Given the description of an element on the screen output the (x, y) to click on. 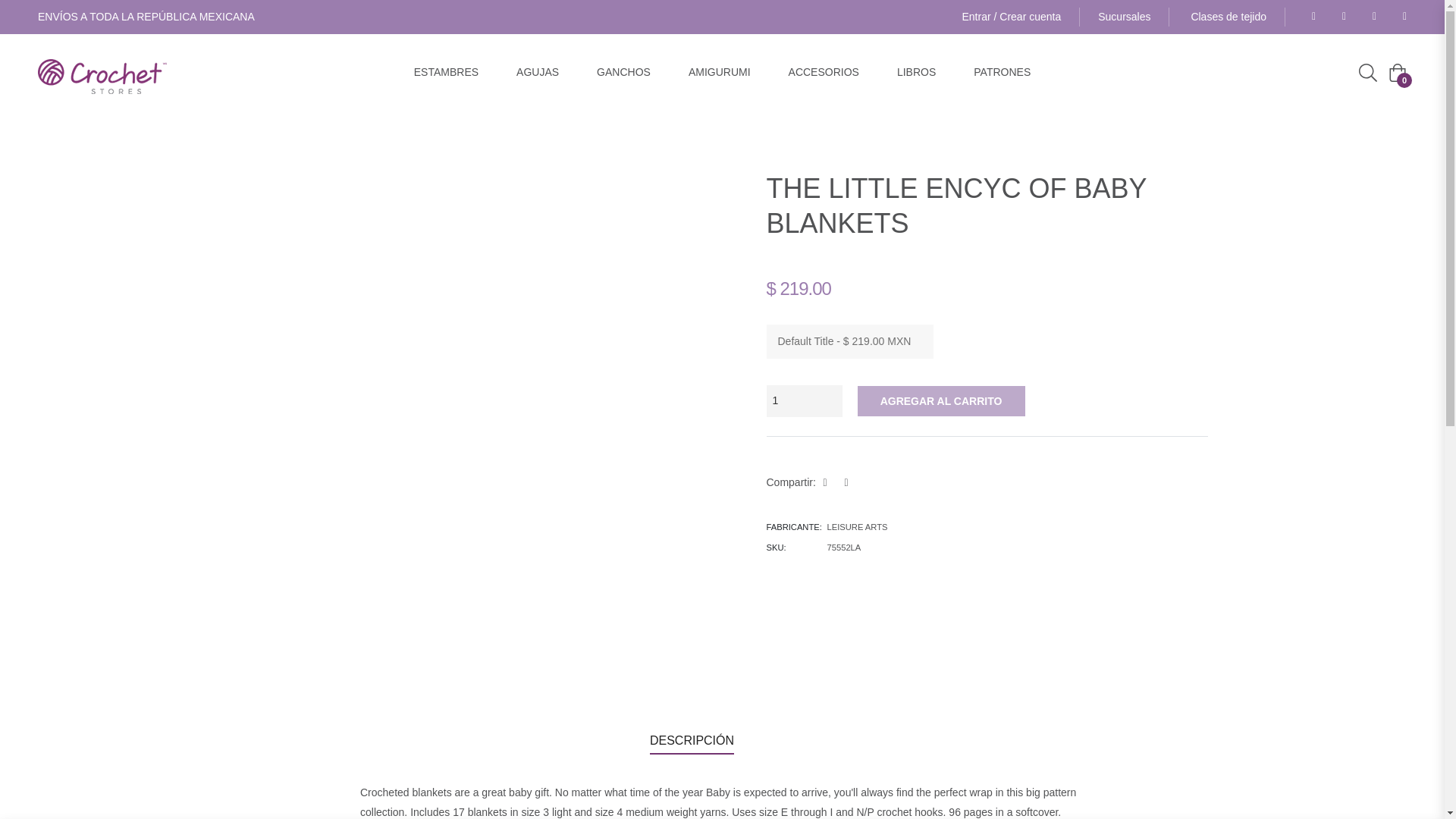
GANCHOS (623, 72)
ESTAMBRES (445, 72)
Crochetstores en Facebook (1309, 16)
Crochetstores en YouTube (1400, 16)
Clases de tejido (1228, 16)
Crear cuenta (1029, 16)
Sucursales (1133, 16)
Compartir en Facebook (830, 481)
Crochetstores en Pinterest (1339, 16)
1 (803, 400)
